Given the description of an element on the screen output the (x, y) to click on. 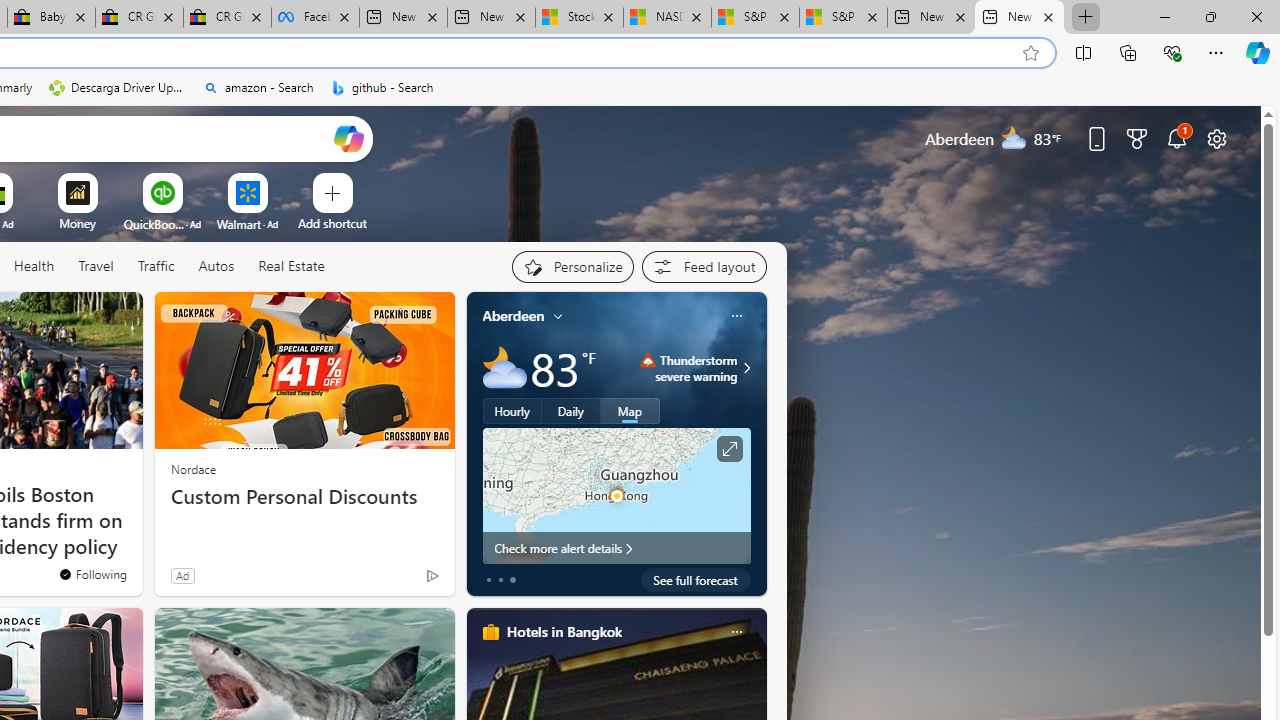
tab-0 (488, 579)
Autos (216, 267)
Traffic (155, 265)
Real Estate (291, 265)
Health (34, 265)
Hotels in Bangkok (563, 631)
My location (558, 315)
Class: weather-arrow-glyph (746, 367)
You're following FOX News (92, 573)
tab-1 (500, 579)
See full forecast (695, 579)
